Given the description of an element on the screen output the (x, y) to click on. 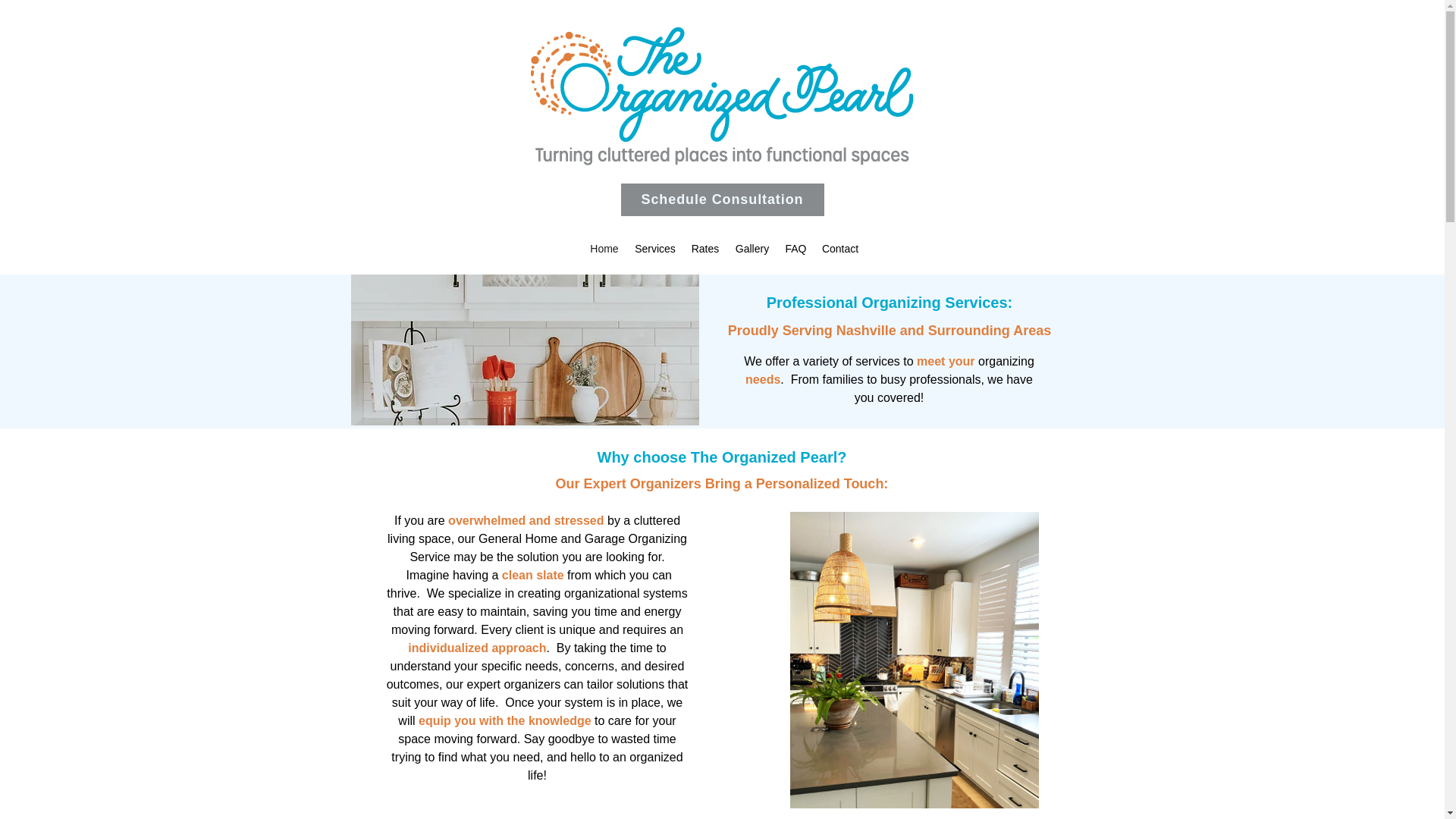
Contact (839, 248)
Rates (705, 248)
Services (654, 248)
FAQ (795, 248)
Let's Chat (761, 741)
Gallery (751, 248)
Schedule Consultation (722, 199)
Home (604, 248)
